Given the description of an element on the screen output the (x, y) to click on. 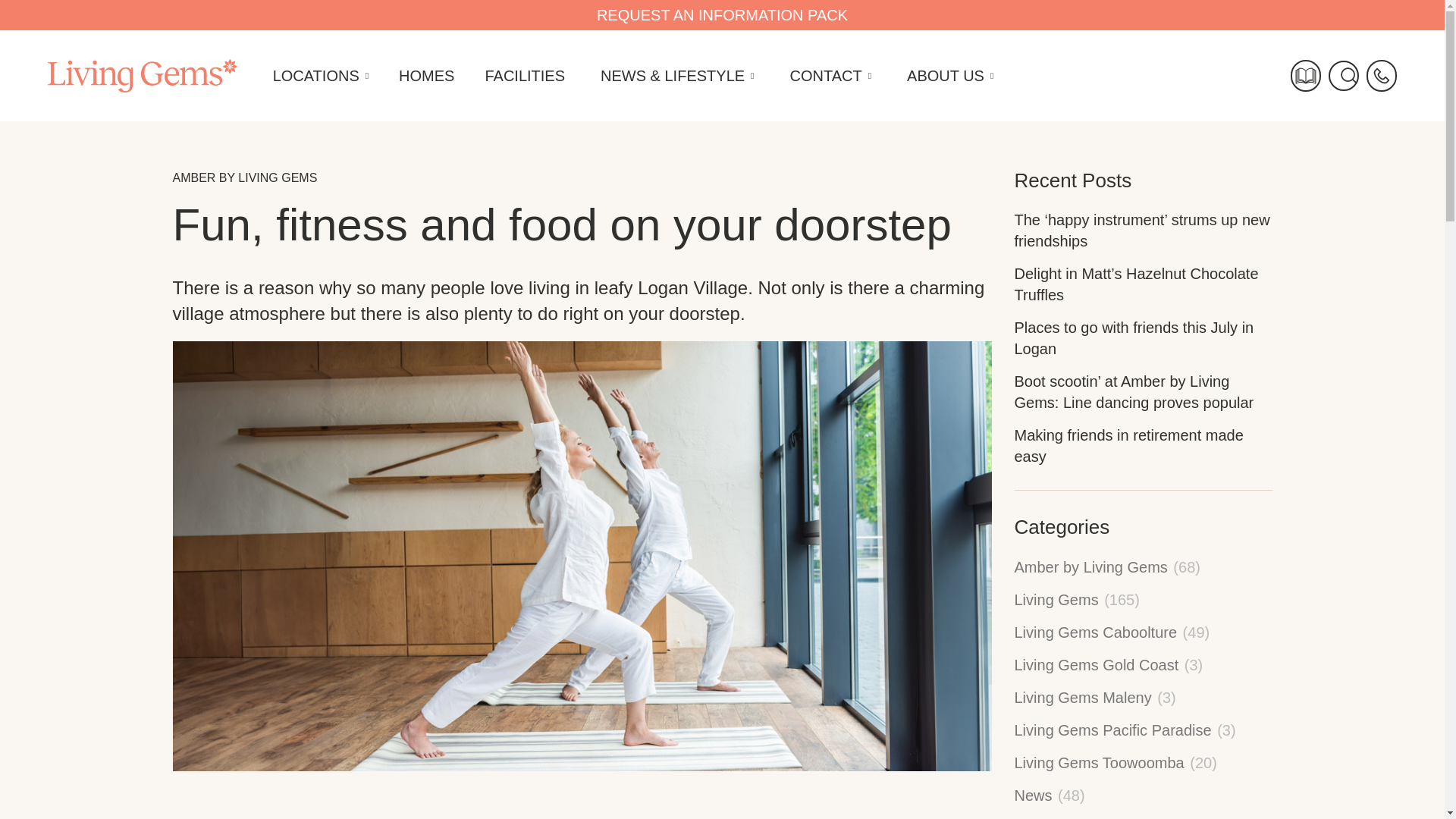
FACILITIES (516, 75)
AMBER BY LIVING GEMS (245, 177)
ABOUT US (939, 75)
HOMES (419, 75)
LOCATIONS (309, 75)
Search (1342, 75)
REQUEST AN INFORMATION PACK (721, 15)
CONTACT (819, 75)
